Given the description of an element on the screen output the (x, y) to click on. 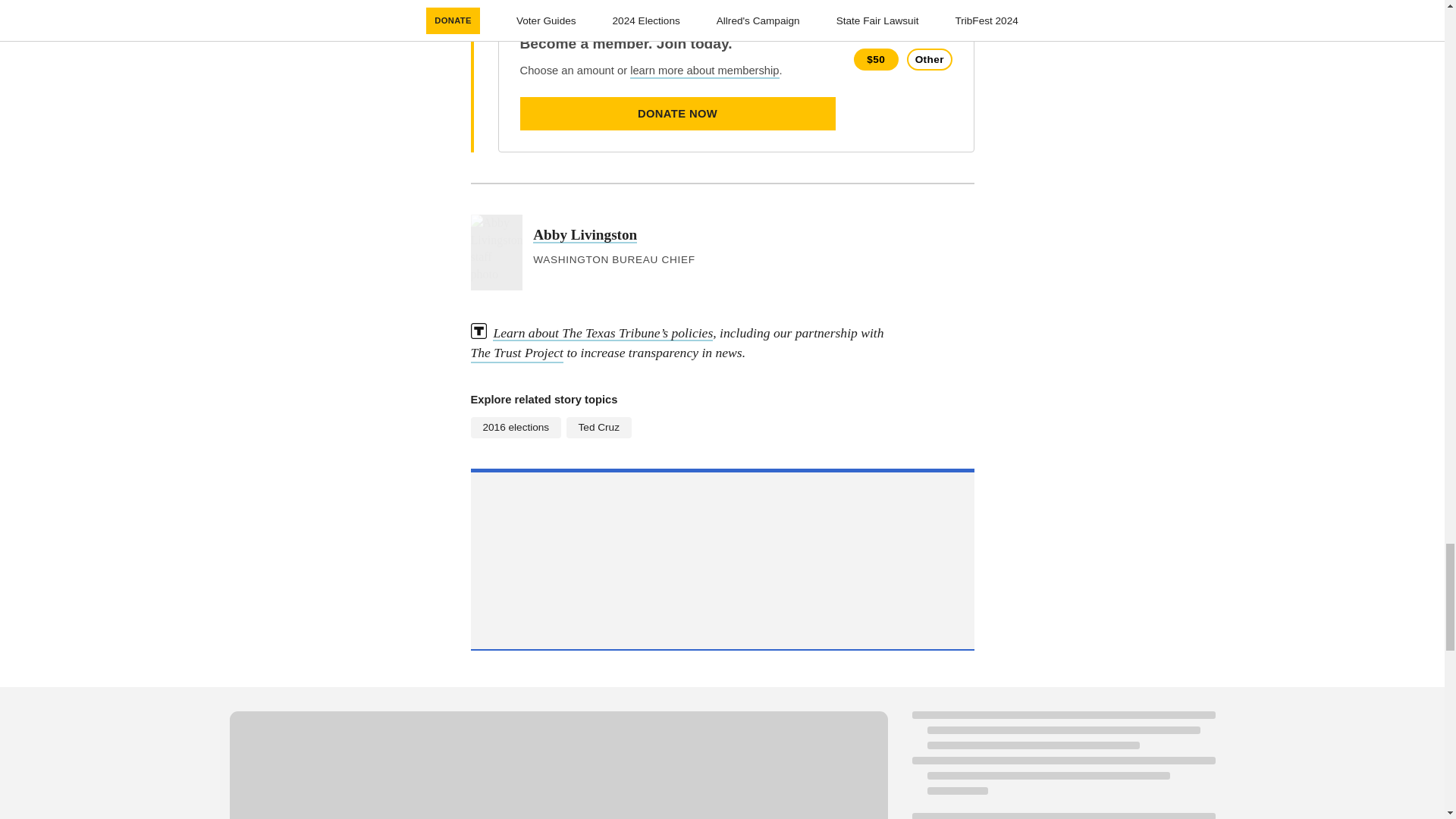
Loading indicator (557, 765)
Loading indicator (1062, 760)
Loading indicator (1062, 816)
